Given the description of an element on the screen output the (x, y) to click on. 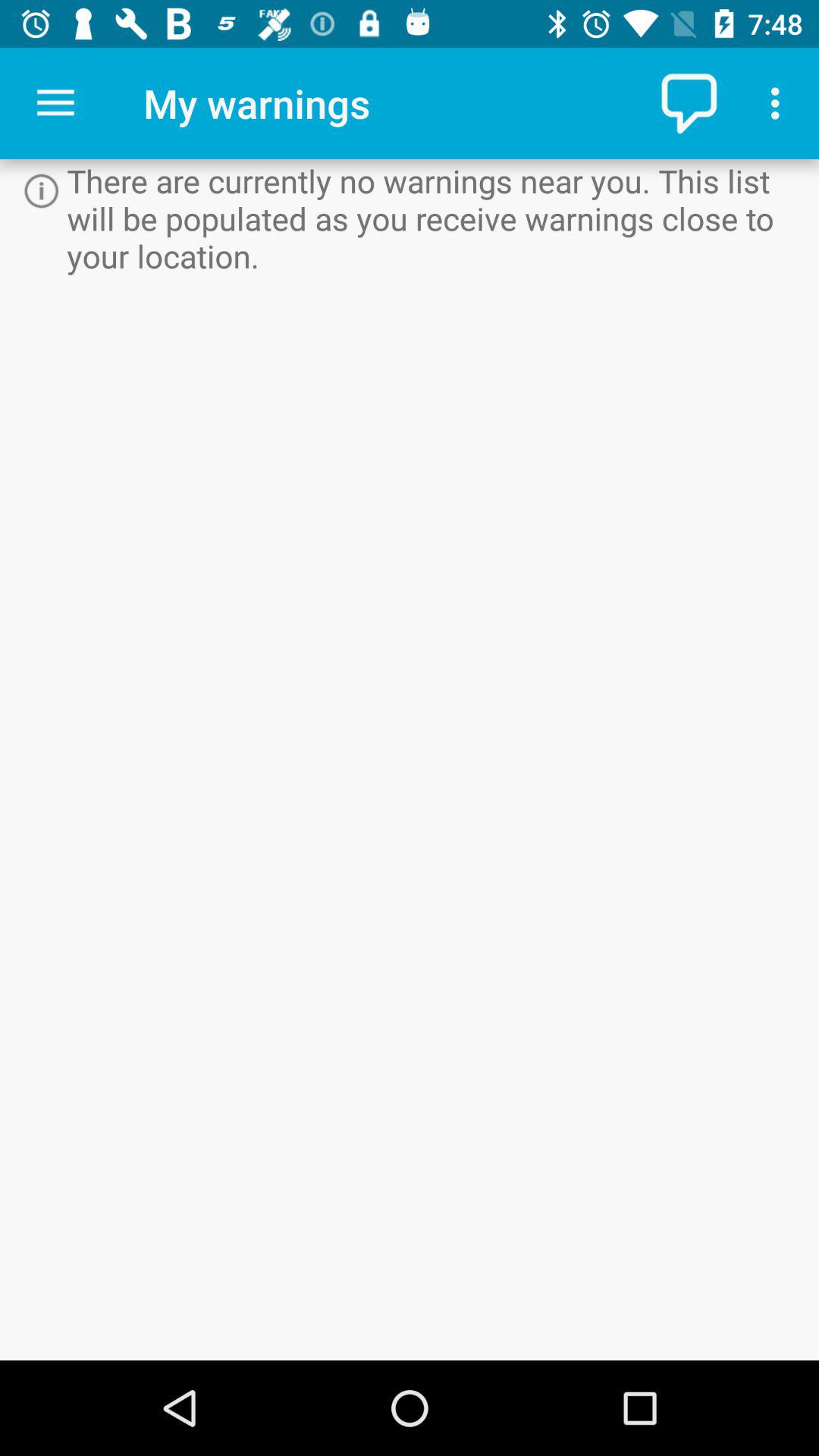
press item next to the my warnings item (691, 103)
